Given the description of an element on the screen output the (x, y) to click on. 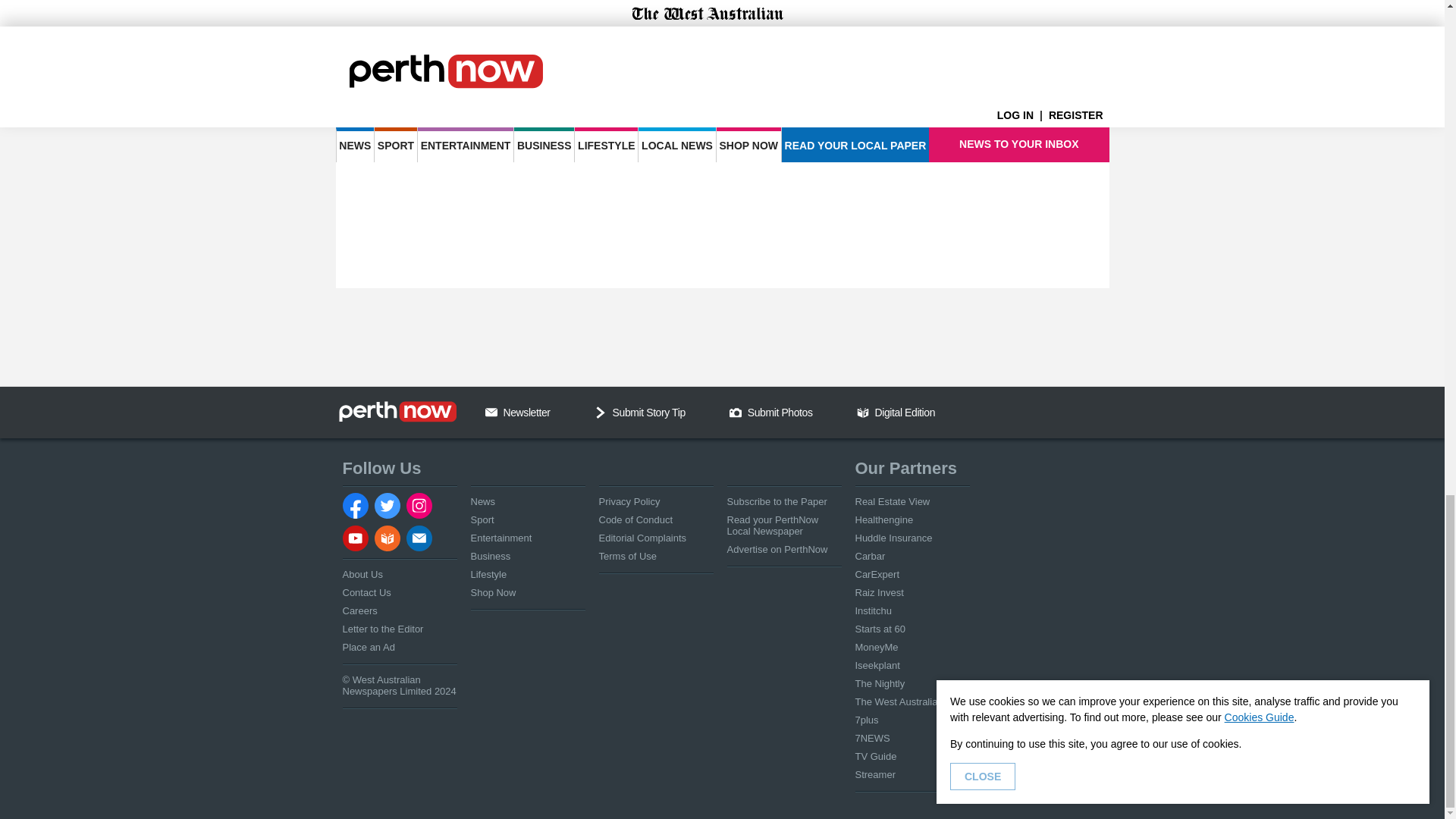
Email Us (490, 412)
Chevron Down Icon (600, 412)
Get Digital Edition (863, 412)
Camera Icon (735, 412)
